Given the description of an element on the screen output the (x, y) to click on. 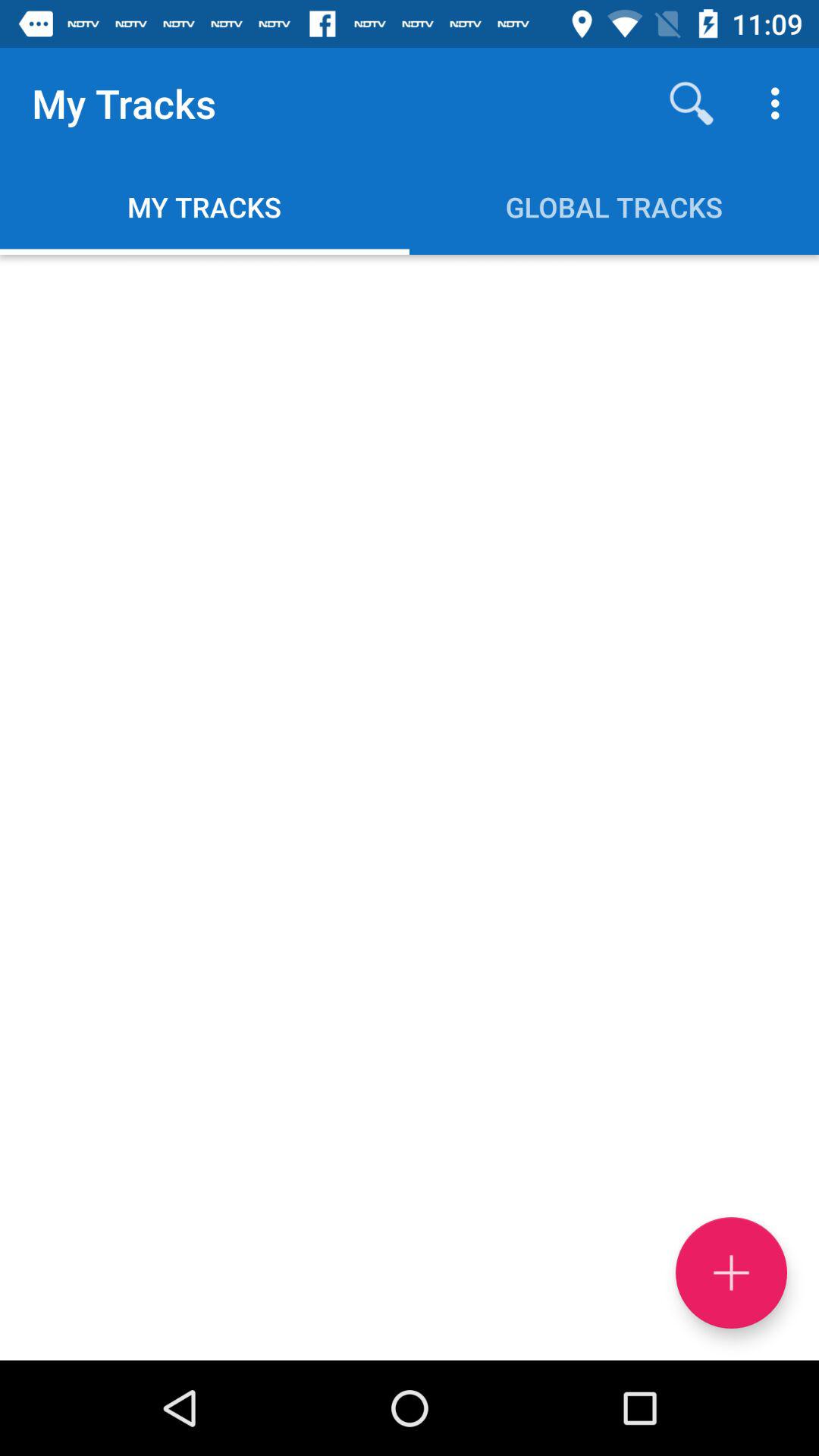
choose item at the center (409, 807)
